Given the description of an element on the screen output the (x, y) to click on. 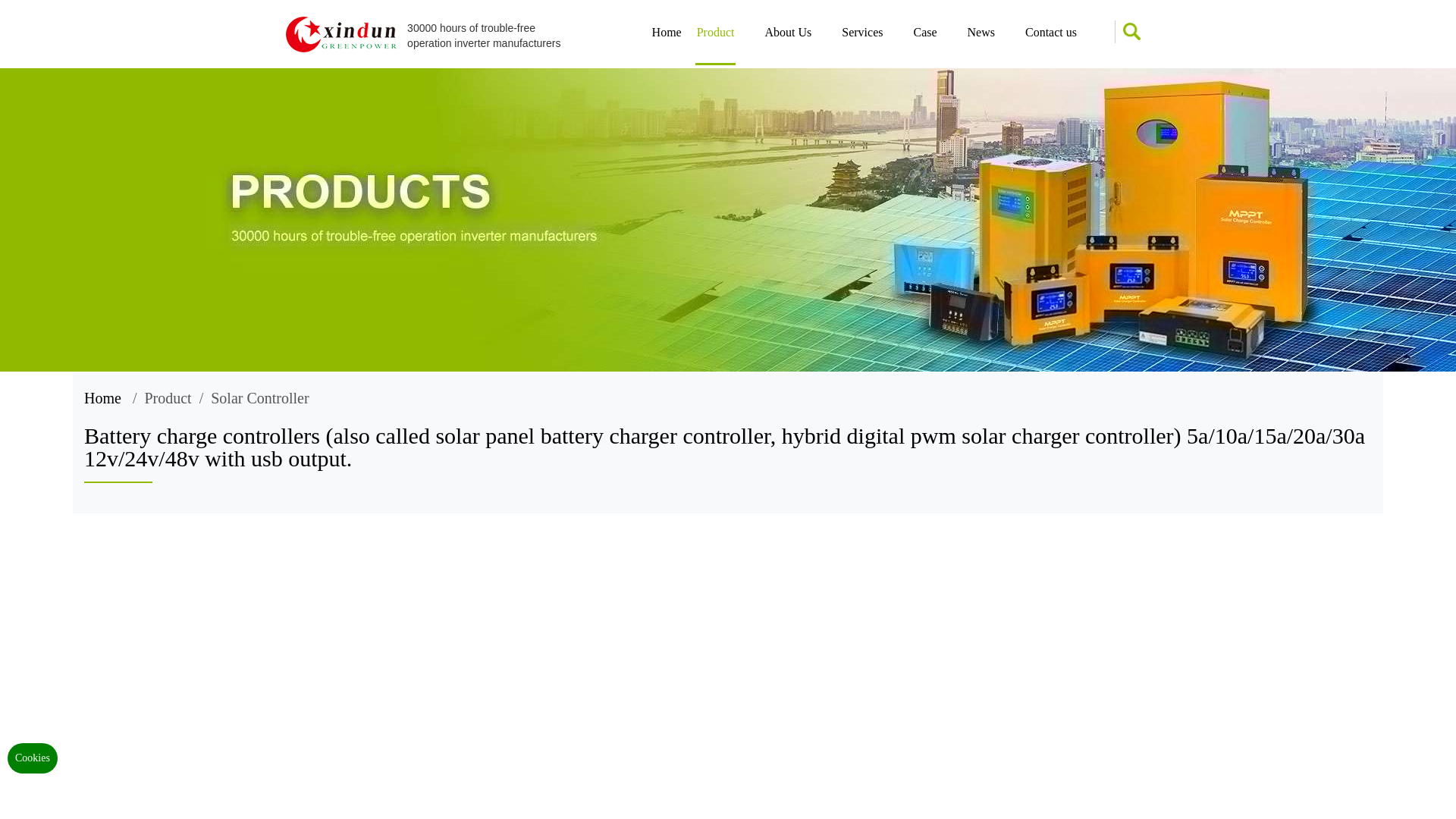
Solar Controller (727, 447)
About Us (787, 44)
Home (102, 397)
Product (167, 397)
Solar Controller (259, 397)
Home (102, 397)
Product (715, 44)
Services (861, 44)
Contact us (1050, 44)
